Given the description of an element on the screen output the (x, y) to click on. 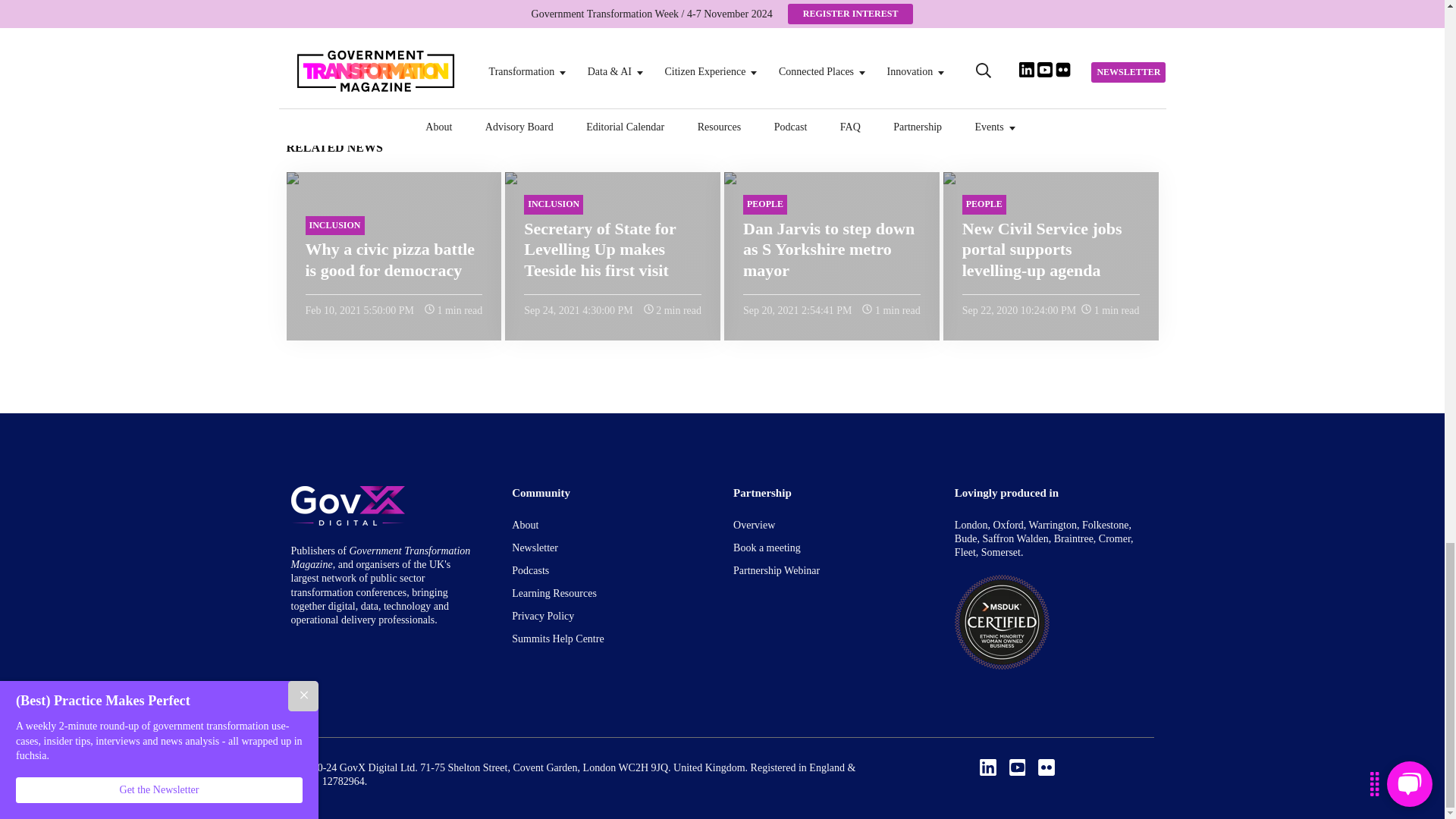
Reading time (1085, 308)
Reading time (429, 308)
Reading time (648, 308)
Reading time (866, 308)
